Given the description of an element on the screen output the (x, y) to click on. 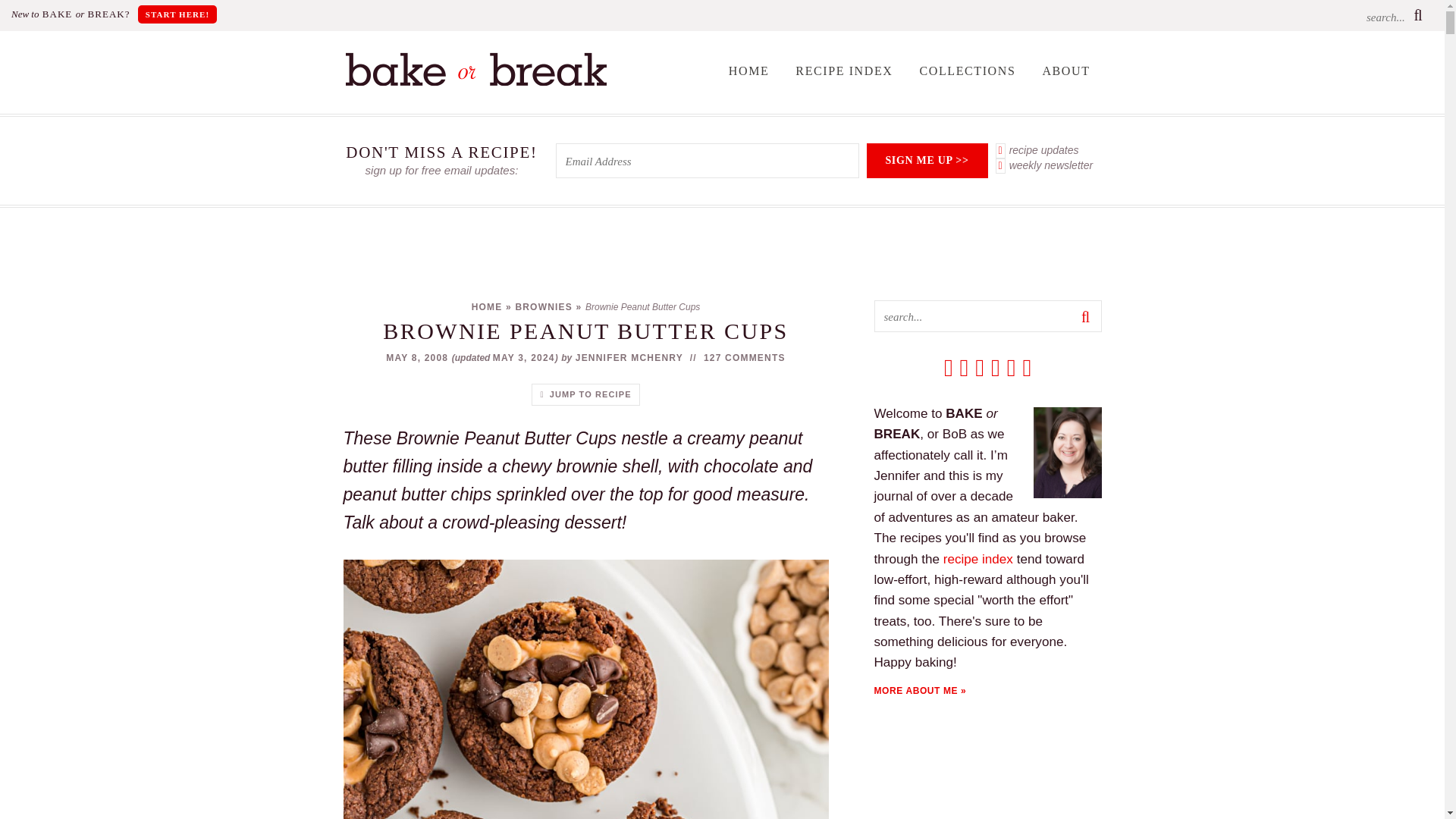
Facebook (964, 367)
COLLECTIONS (966, 70)
Instagram (1011, 367)
START HERE! (177, 13)
ABOUT (1065, 70)
Pinterest (995, 367)
RSS (948, 367)
HOME (748, 70)
Twitter (979, 367)
RECIPE INDEX (844, 70)
Bake or Break (475, 82)
YouTube (1026, 367)
127 COMMENTS (744, 357)
JUMP TO RECIPE (585, 395)
JENNIFER MCHENRY (628, 357)
